Given the description of an element on the screen output the (x, y) to click on. 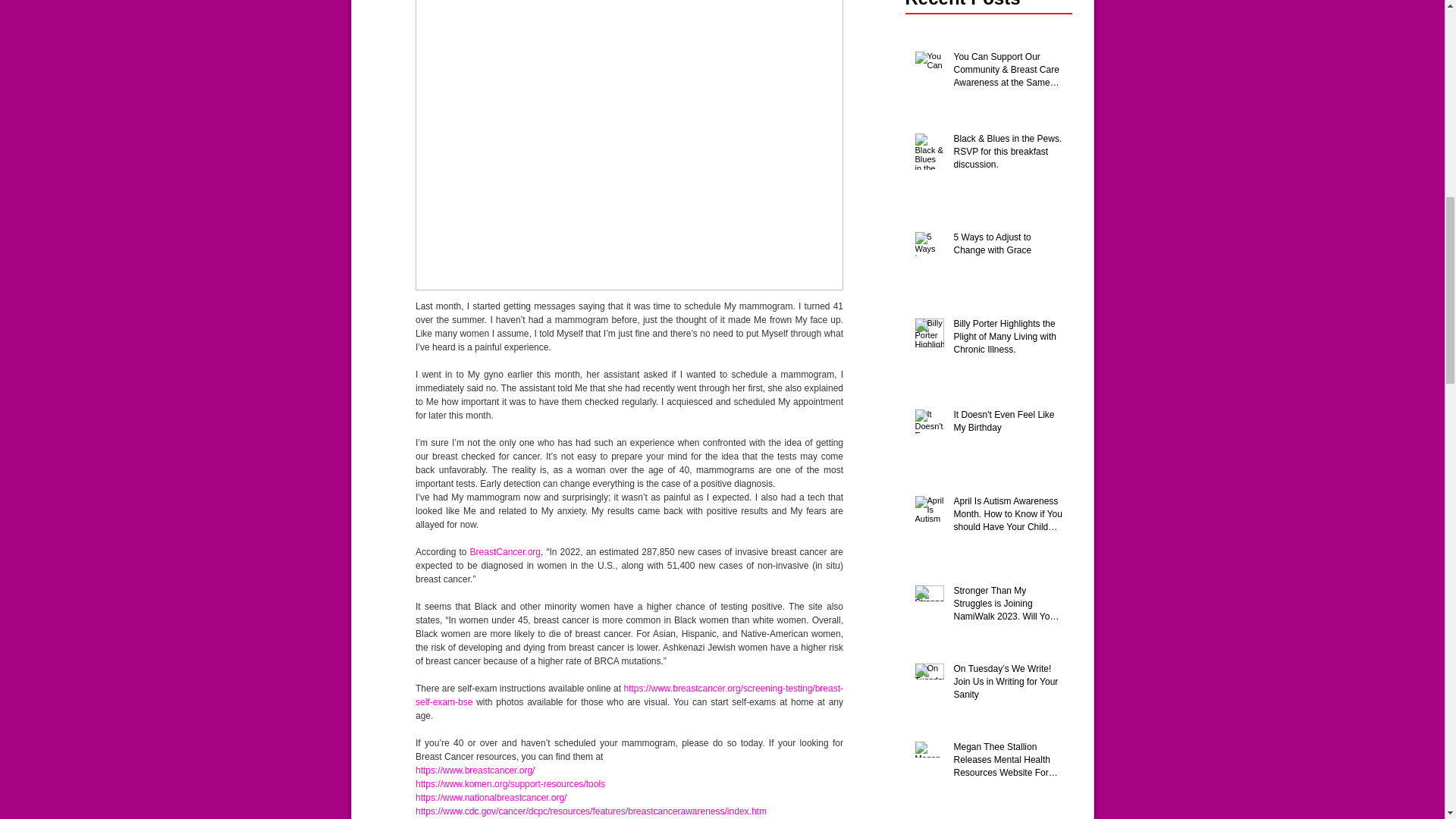
BreastCancer.org (504, 552)
It Doesn't Even Feel Like My Birthday (1007, 424)
5 Ways to Adjust to Change with Grace (1007, 246)
